Given the description of an element on the screen output the (x, y) to click on. 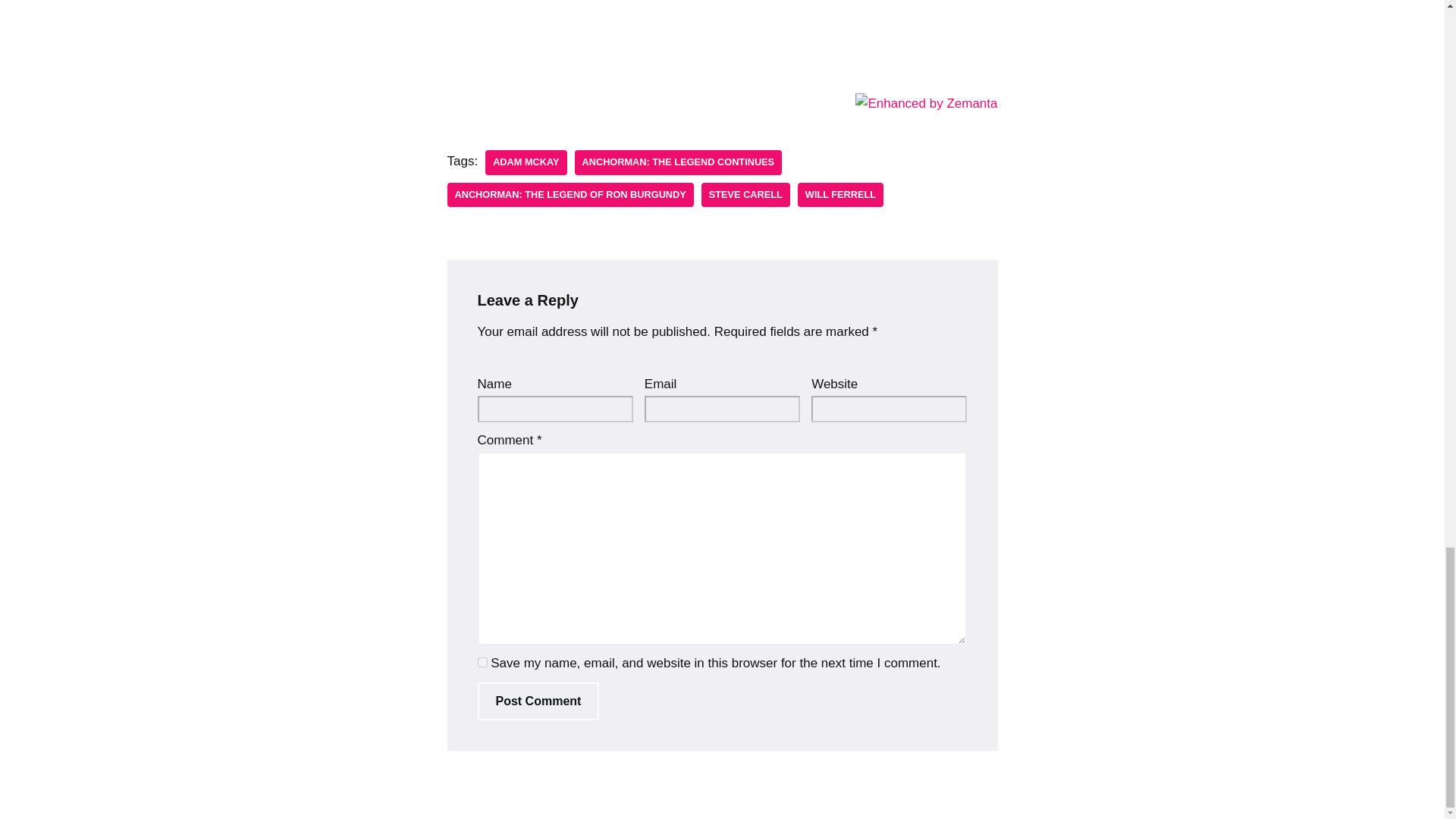
yes (482, 662)
STEVE CARELL (745, 195)
ADAM MCKAY (525, 162)
ANCHORMAN: THE LEGEND CONTINUES (679, 162)
Anchorman: The Legend Continues (679, 162)
Adam McKay (525, 162)
ANCHORMAN: THE LEGEND OF RON BURGUNDY (570, 195)
Post Comment (538, 701)
